Given the description of an element on the screen output the (x, y) to click on. 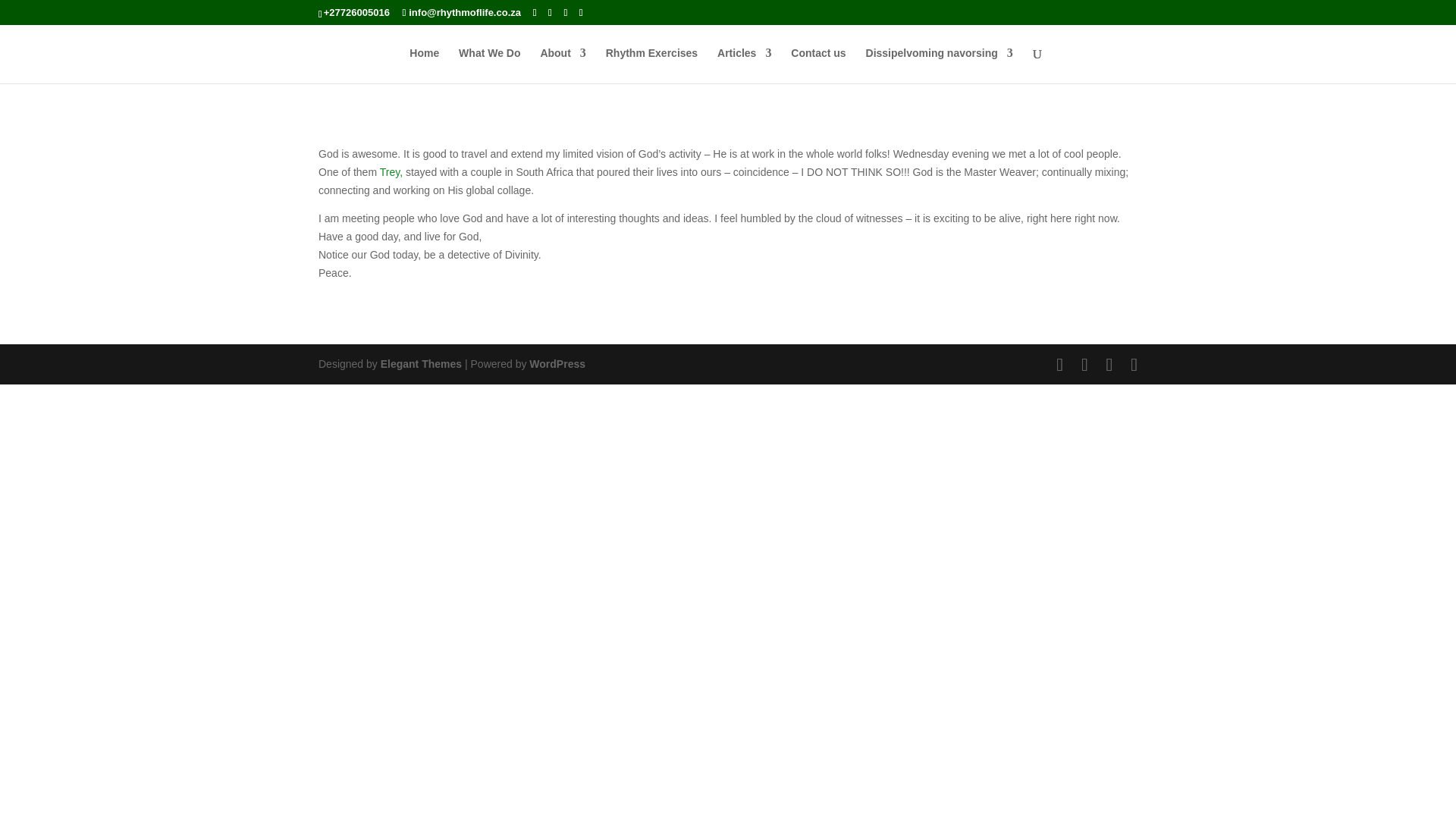
Elegant Themes (420, 363)
Premium WordPress Themes (420, 363)
About (562, 65)
Articles (744, 65)
Rhythm Exercises (651, 65)
What We Do (488, 65)
Dissipelvoming navorsing (939, 65)
Trey, (393, 172)
WordPress (557, 363)
Contact us (817, 65)
